Given the description of an element on the screen output the (x, y) to click on. 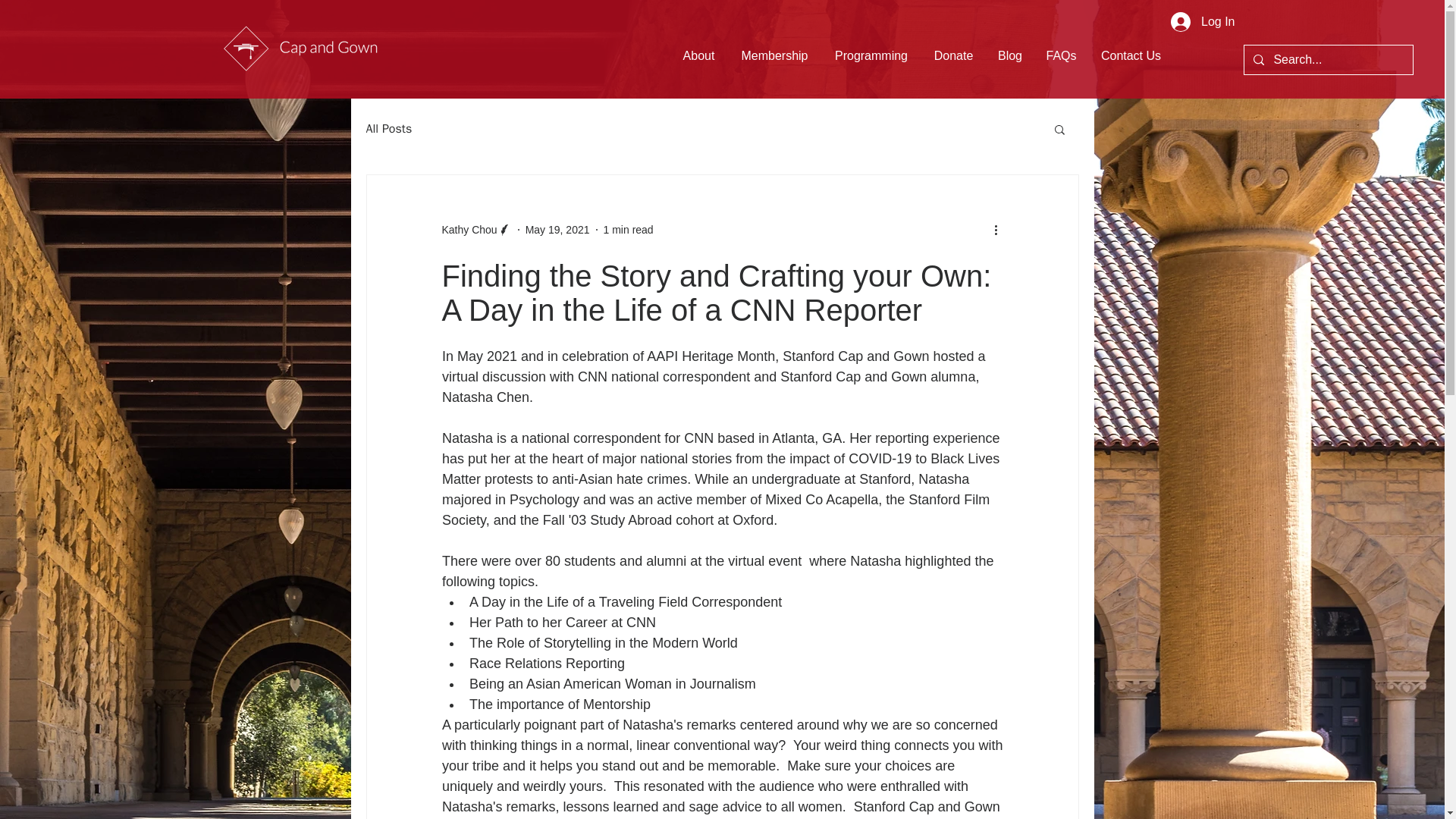
Membership (774, 55)
Kathy Chou (476, 229)
Contact Us (1130, 55)
All Posts (388, 129)
Programming (871, 55)
Donate (953, 55)
FAQs (1060, 55)
Kathy Chou (468, 229)
May 19, 2021 (557, 228)
1 min read (628, 228)
